Given the description of an element on the screen output the (x, y) to click on. 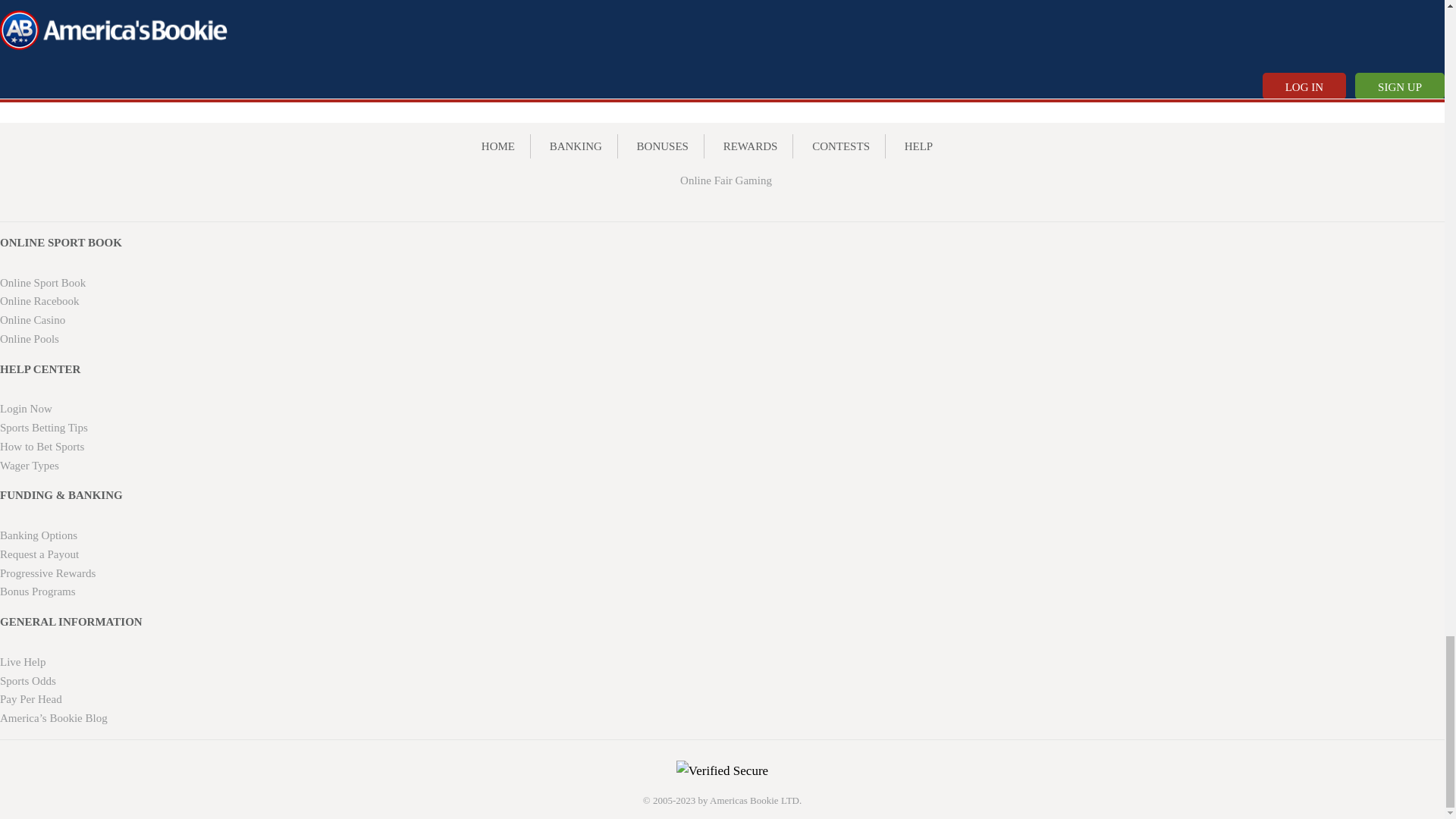
Request a Payout (39, 553)
Online Sport Book (42, 282)
Online Pools (29, 338)
Online Racebook (40, 300)
BONUSES (662, 146)
HOME (498, 146)
Online Casino (32, 319)
Sports Betting Tips (43, 427)
REWARDS (750, 146)
Wager Types (29, 465)
How to Bet Sports (42, 446)
Login Now (26, 408)
BANKING (576, 146)
Banking Options (38, 535)
Progressive Rewards (48, 573)
